Given the description of an element on the screen output the (x, y) to click on. 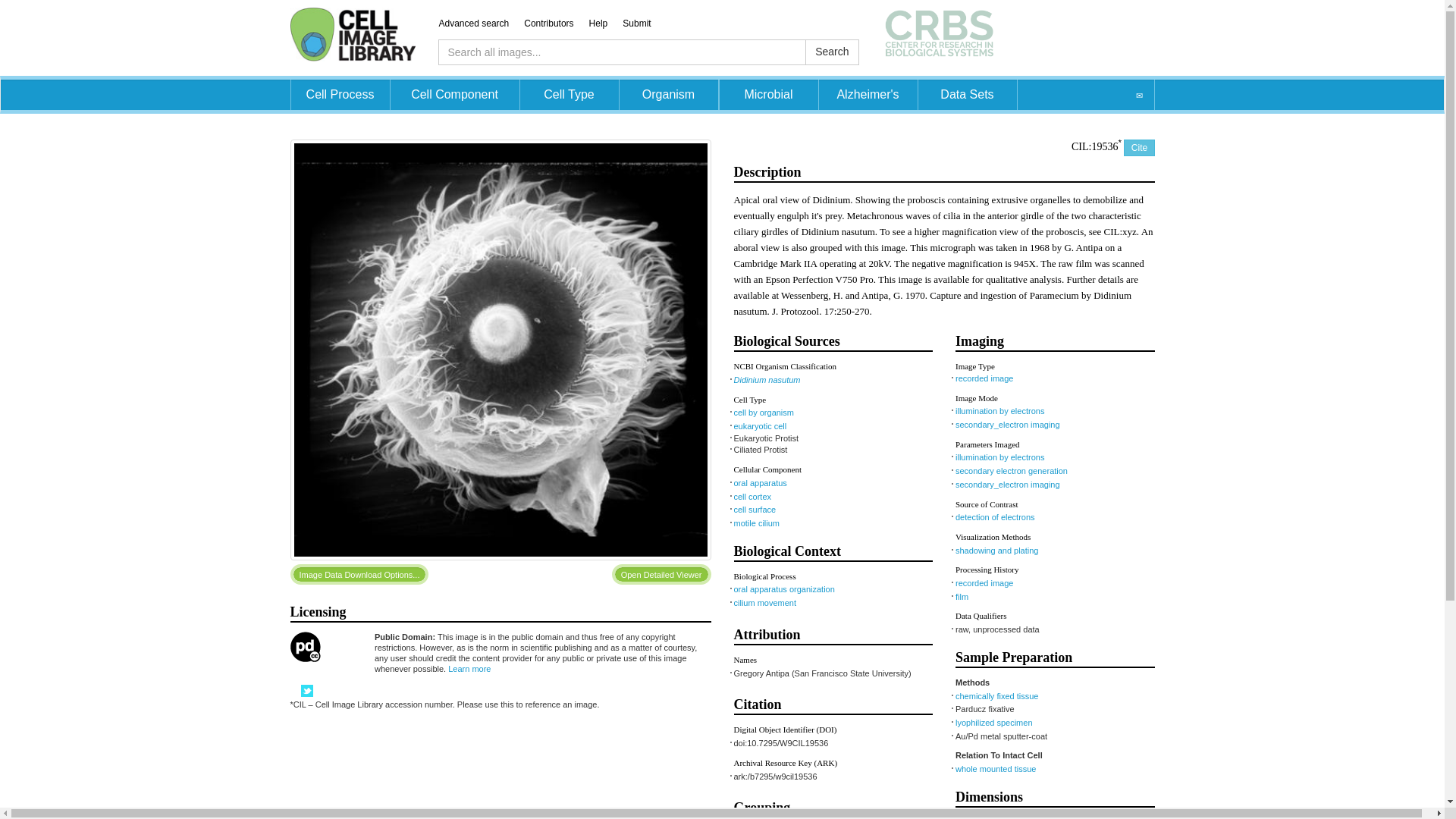
Cell Type (568, 94)
 Cite  (1139, 147)
Submit (644, 23)
cilium movement (764, 602)
Learn more (469, 668)
motile cilium (756, 522)
recorded image (984, 378)
Cell Process (340, 94)
cell cortex (752, 496)
Contributors (556, 23)
